Given the description of an element on the screen output the (x, y) to click on. 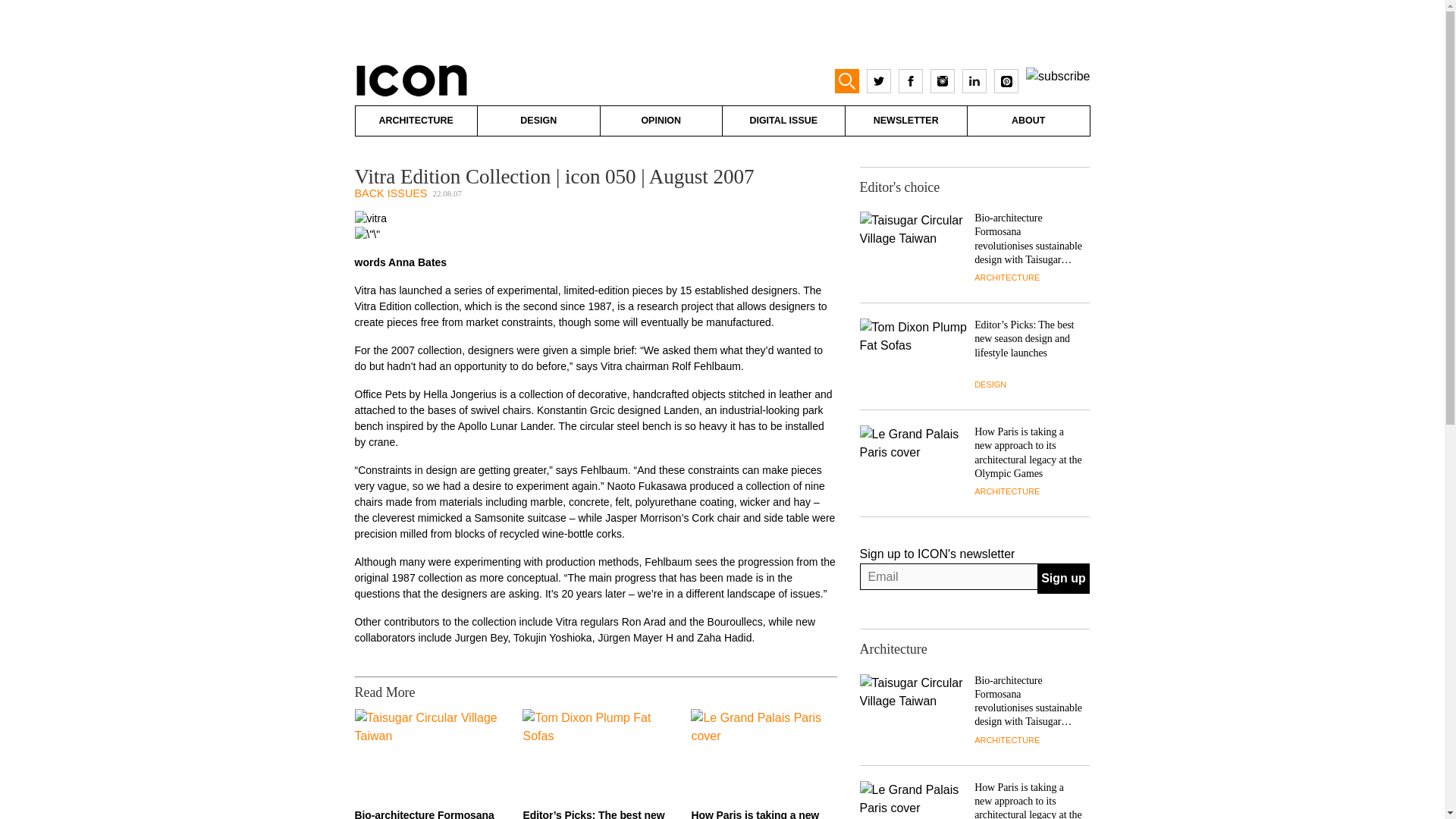
DIGITAL ISSUE (783, 120)
ABOUT (1028, 120)
Search (25, 9)
DESIGN (538, 120)
Sign up (1062, 578)
ARCHITECTURE (1006, 276)
BACK ISSUES (391, 193)
OPINION (660, 120)
ARCHITECTURE (416, 120)
ARCHITECTURE (1006, 491)
DESIGN (990, 384)
NEWSLETTER (905, 120)
